Given the description of an element on the screen output the (x, y) to click on. 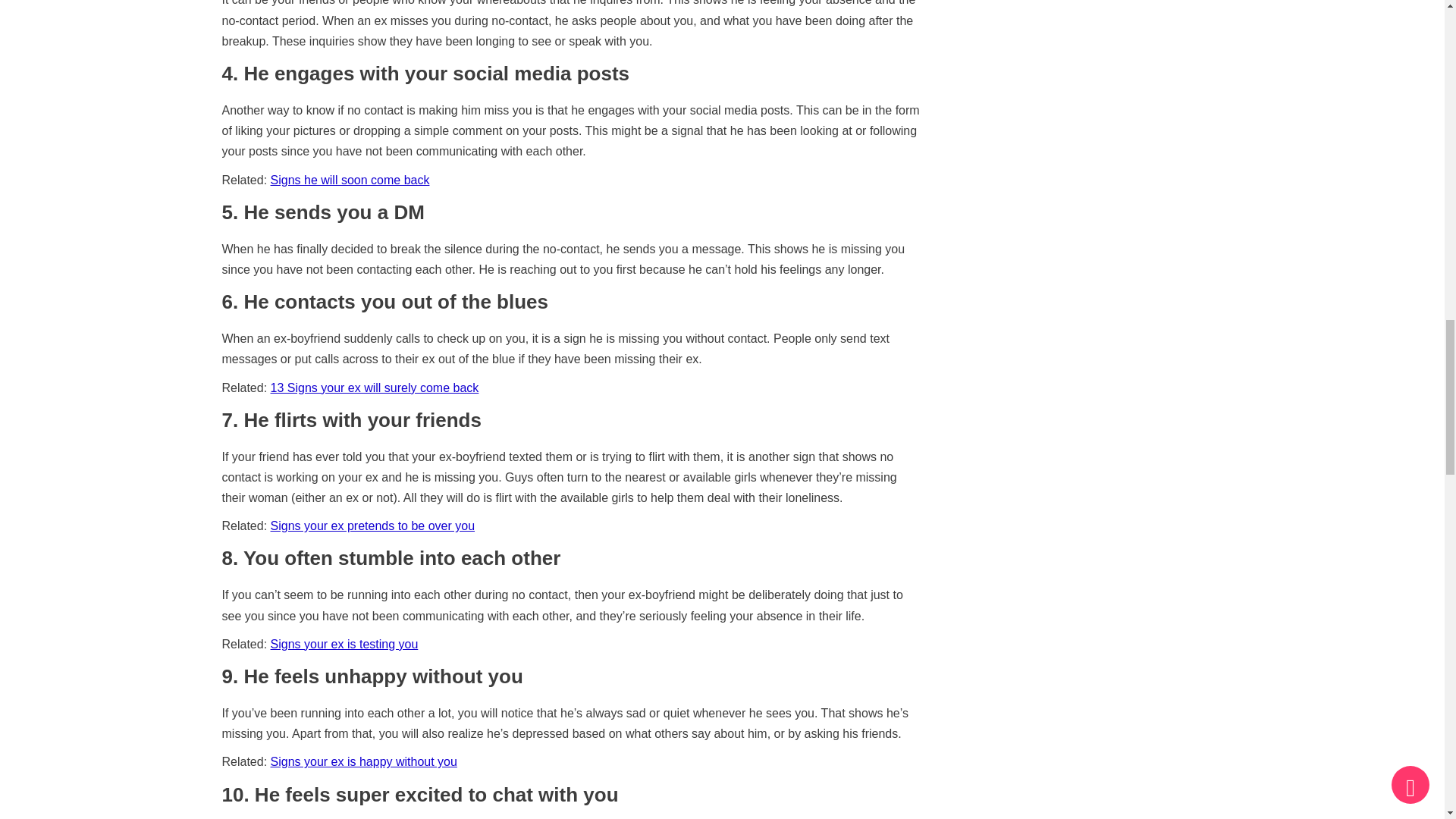
Signs he will soon come back (349, 179)
Signs your ex pretends to be over you (373, 525)
13 Signs your ex will surely come back (374, 387)
Signs your ex is testing you (344, 644)
Signs your ex is happy without you (363, 761)
